Given the description of an element on the screen output the (x, y) to click on. 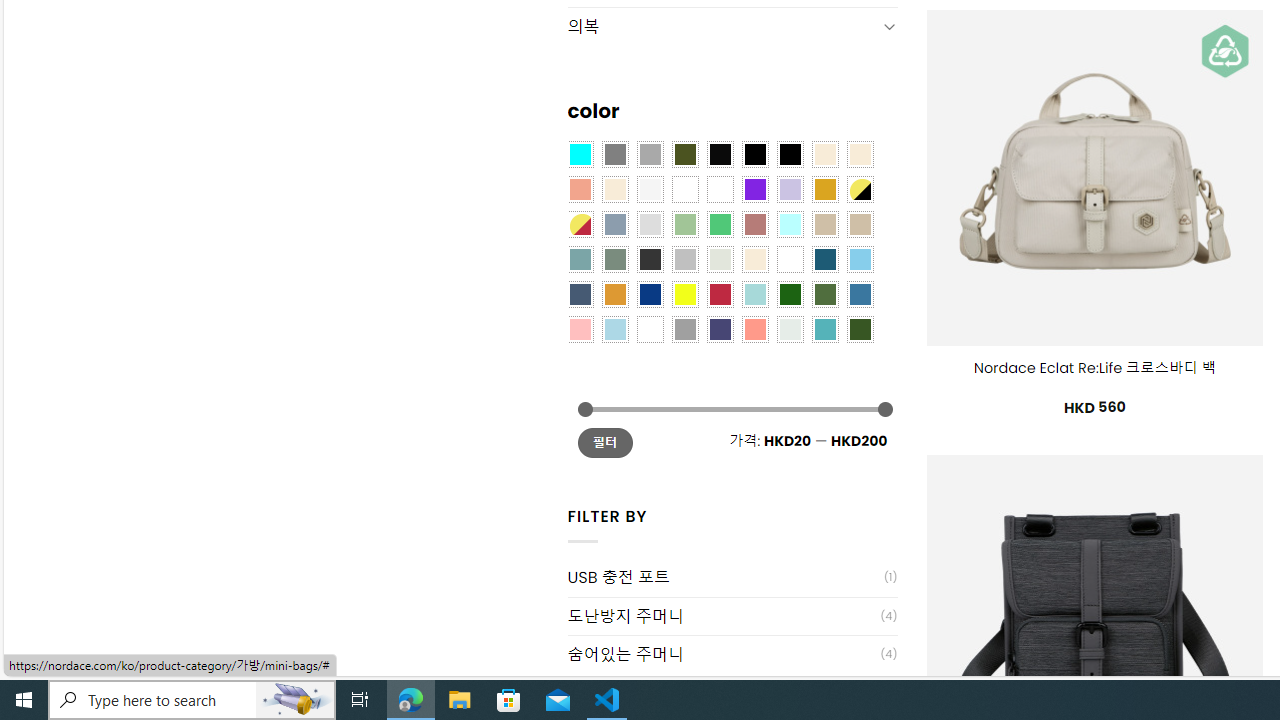
Kelp (719, 190)
